Given the description of an element on the screen output the (x, y) to click on. 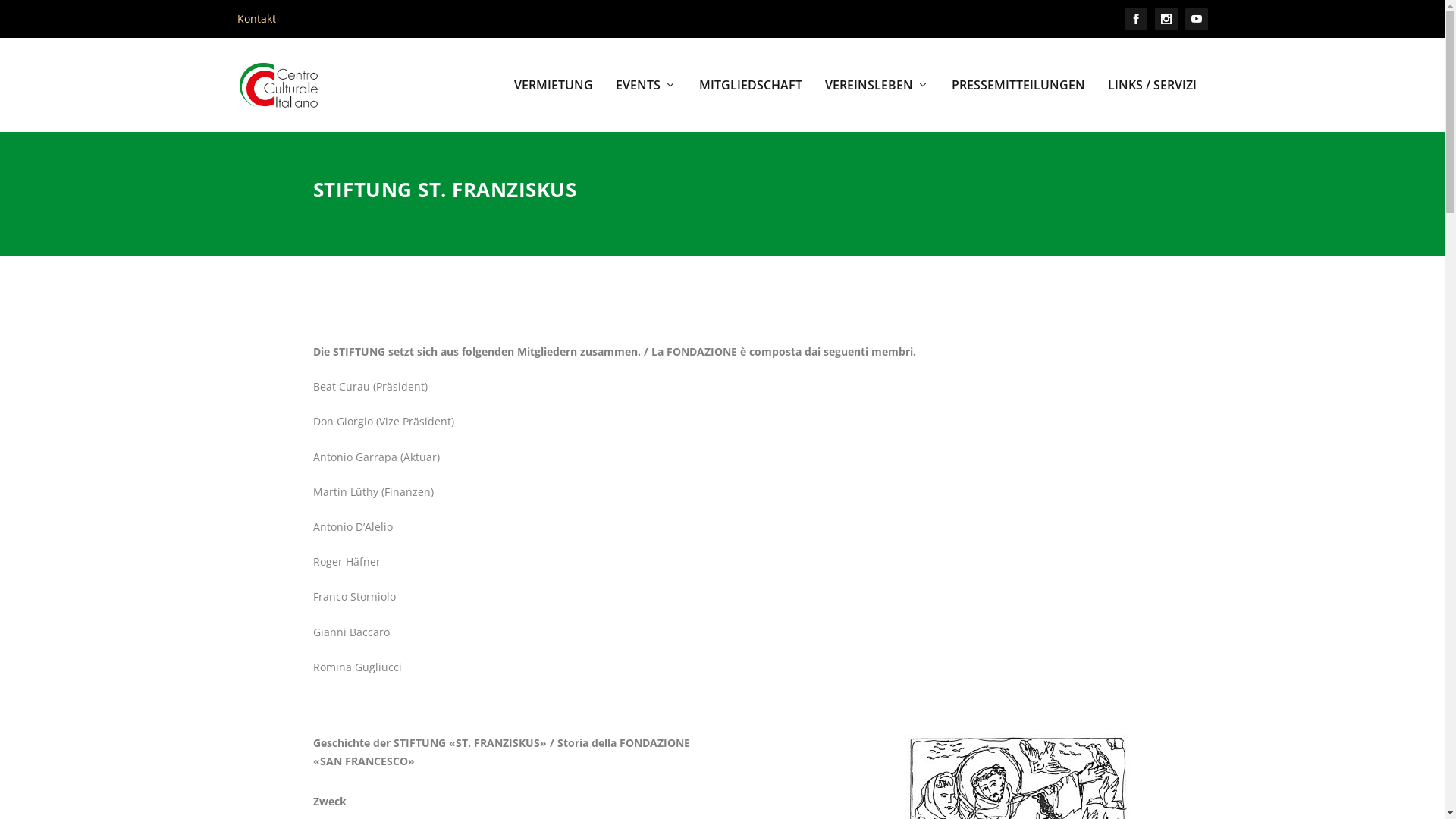
PRESSEMITTEILUNGEN Element type: text (1017, 104)
Kontakt Element type: text (255, 18)
EVENTS Element type: text (645, 104)
VEREINSLEBEN Element type: text (876, 104)
LINKS / SERVIZI Element type: text (1151, 104)
VERMIETUNG Element type: text (553, 104)
MITGLIEDSCHAFT Element type: text (750, 104)
